Given the description of an element on the screen output the (x, y) to click on. 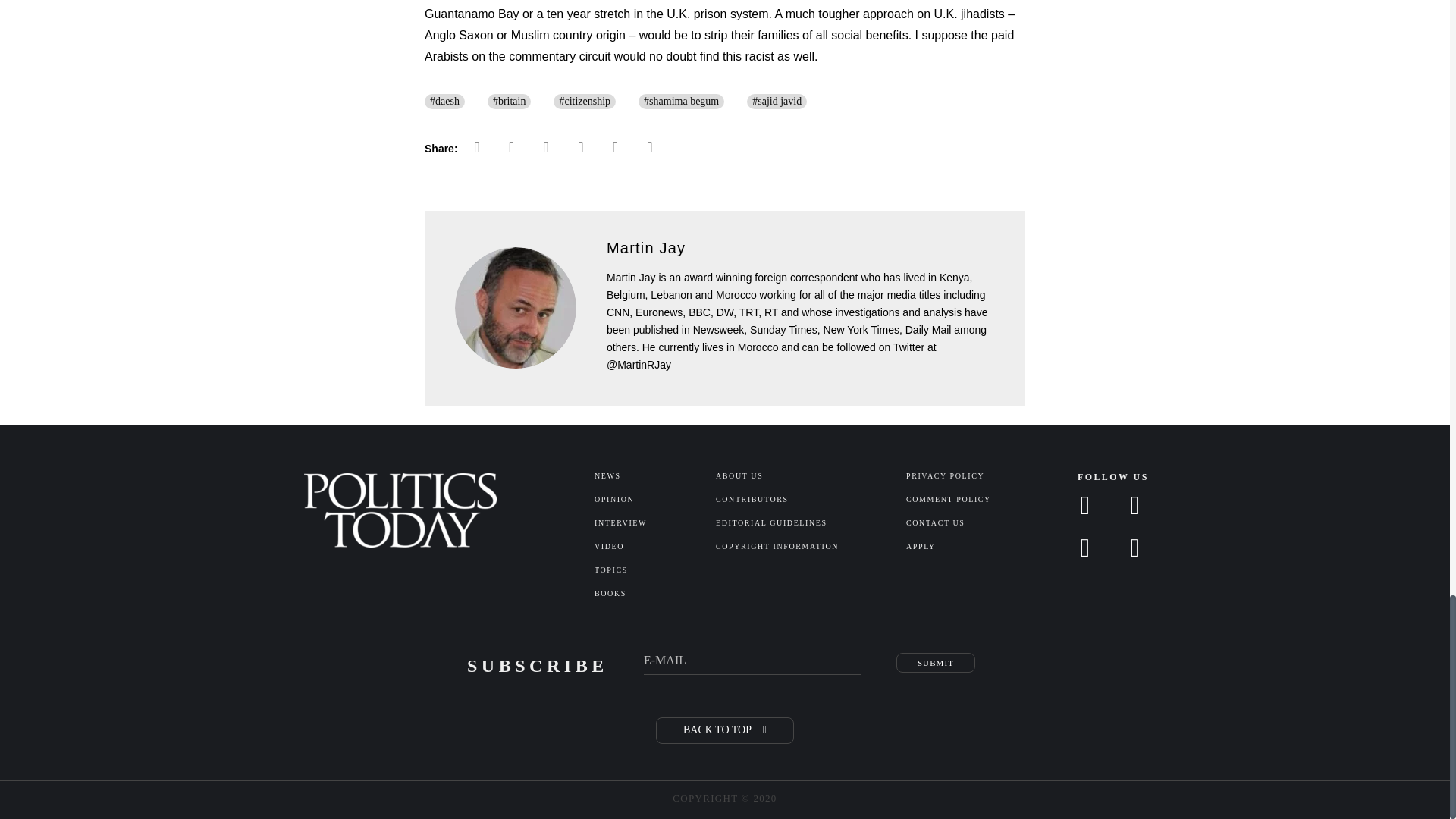
Submit (935, 662)
BACK TO TOP (724, 730)
